Given the description of an element on the screen output the (x, y) to click on. 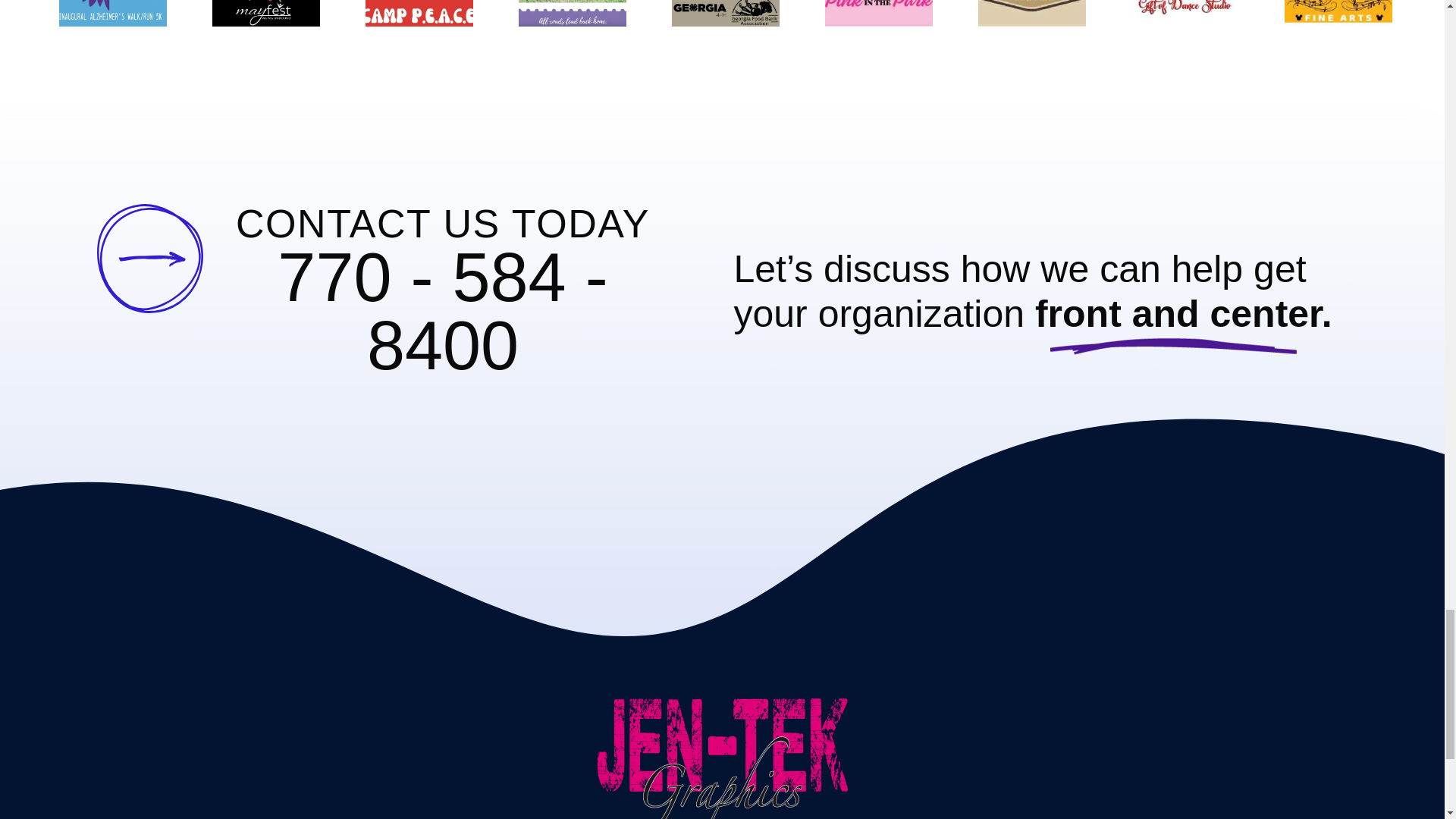
770 - 584 - 8400 (442, 311)
